Given the description of an element on the screen output the (x, y) to click on. 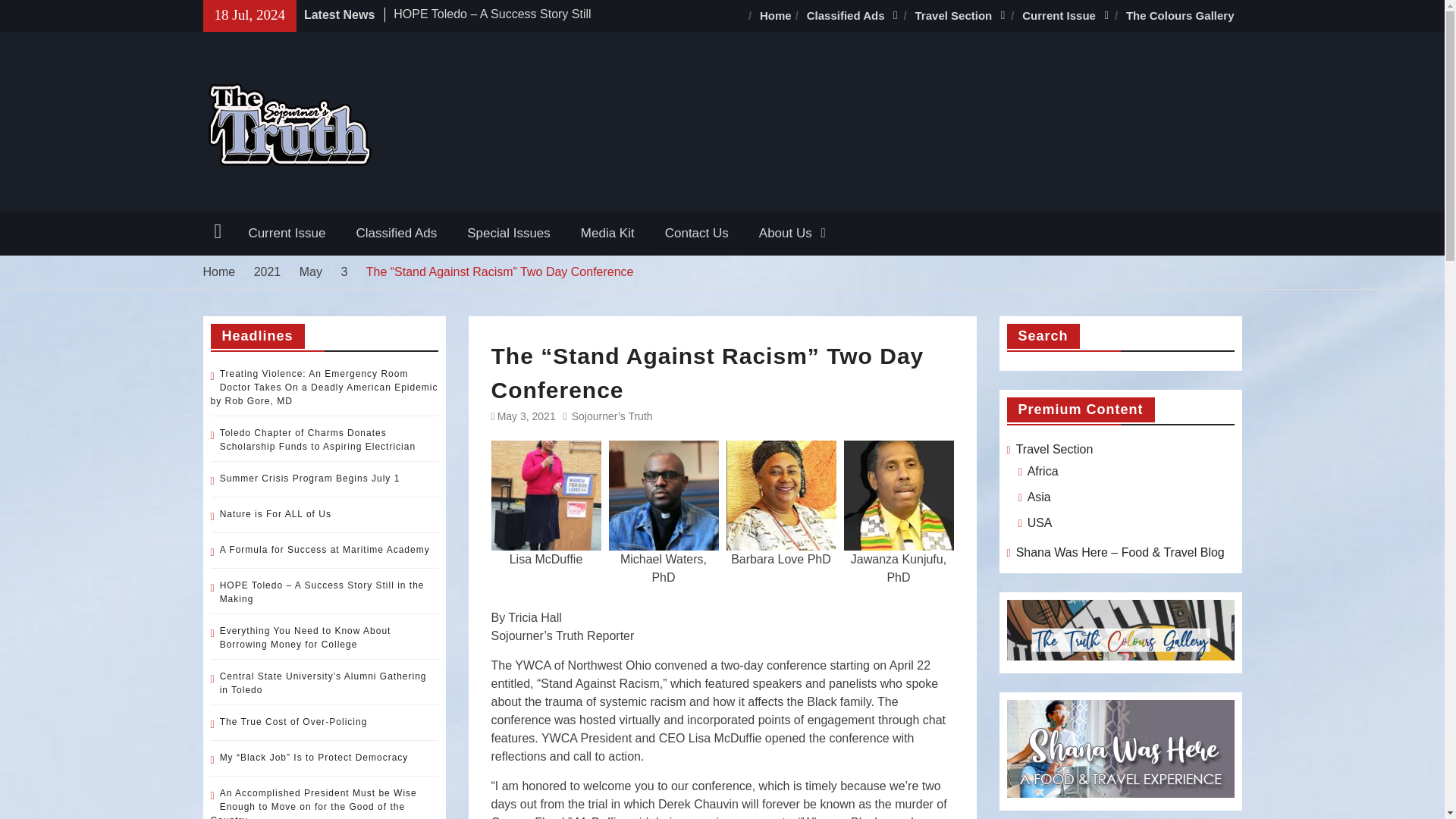
The Colours Gallery (1179, 15)
Current Issue (1066, 15)
Home (775, 15)
Travel Section (960, 15)
Classified Ads (853, 15)
